Given the description of an element on the screen output the (x, y) to click on. 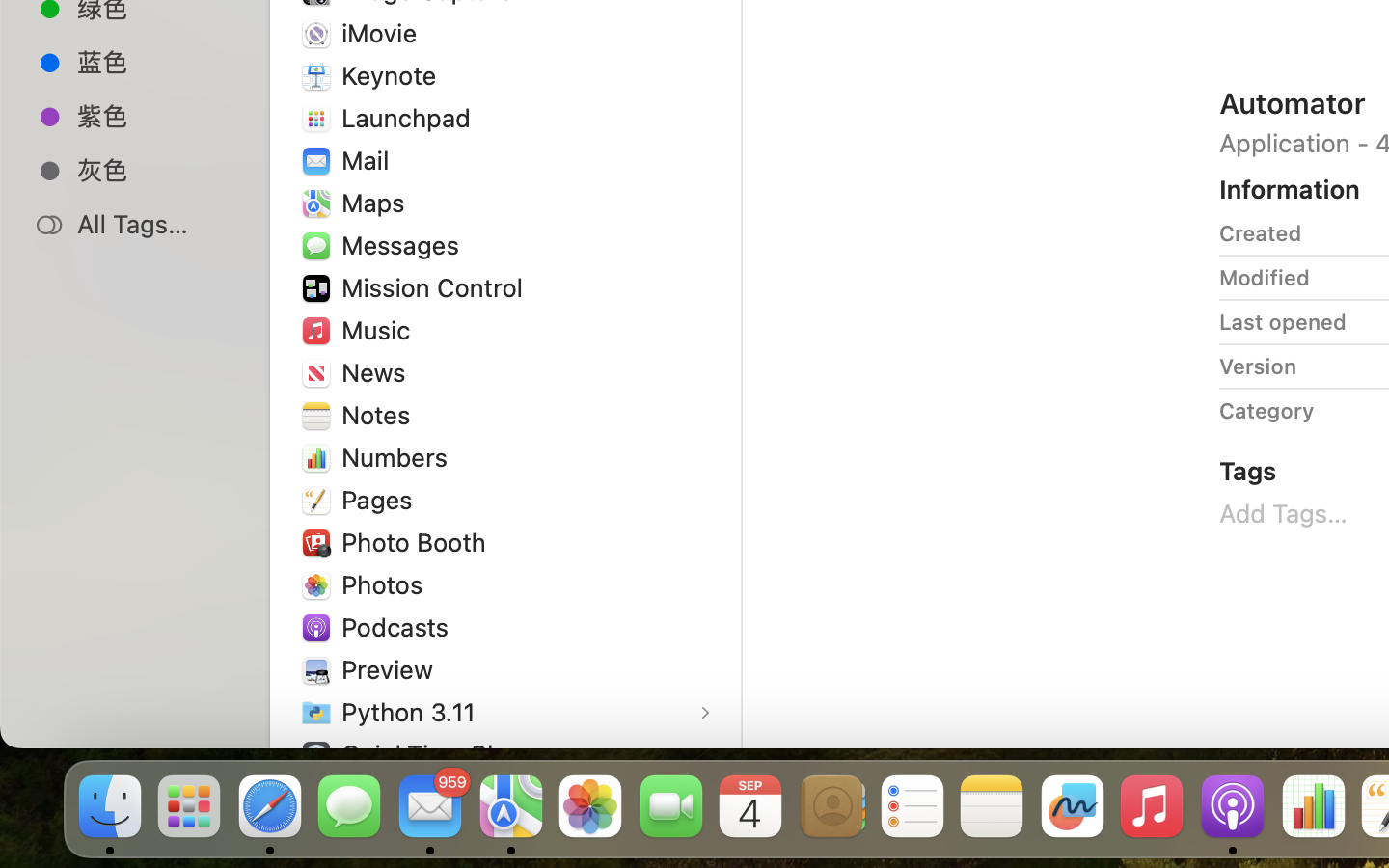
Launchpad Element type: AXTextField (410, 117)
Category Element type: AXStaticText (1266, 410)
紫色 Element type: AXStaticText (155, 115)
Keynote Element type: AXTextField (393, 74)
Preview Element type: AXTextField (391, 668)
